Given the description of an element on the screen output the (x, y) to click on. 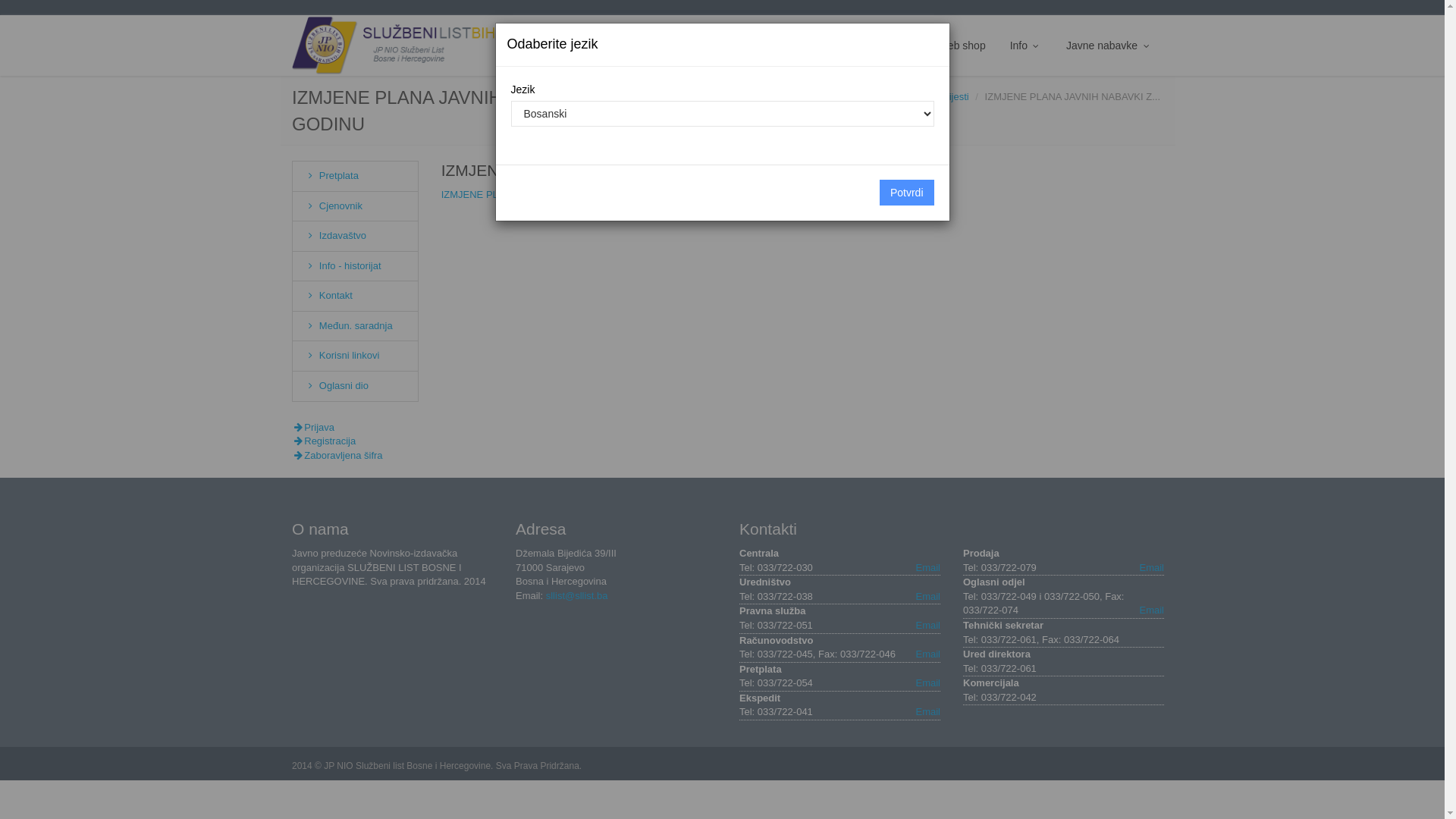
sllist@sllist.ba Element type: text (577, 595)
Email Element type: text (1151, 610)
Jezik Element type: text (577, 44)
Info Element type: text (1025, 44)
Web shop Element type: text (961, 44)
Potvrdi Element type: text (906, 192)
Info - historijat Element type: text (342, 265)
Email Element type: text (927, 712)
Email Element type: text (927, 625)
IZMJENE PLANA JAVNIH NABAVKI ZA 2023. GODINU Element type: text (637, 169)
Sve vijesti Element type: text (946, 96)
Korisni linkovi Element type: text (341, 354)
Pretplata Element type: text (331, 175)
Email Element type: text (927, 654)
Email Element type: text (927, 683)
Kontakt Element type: text (328, 295)
Javne nabavke Element type: text (1109, 44)
Prijava Element type: text (312, 427)
Oglasni dio Element type: text (336, 385)
Email Element type: text (927, 568)
Email Element type: text (927, 596)
Registracija Element type: text (323, 440)
Vijesti Element type: text (899, 44)
Email Element type: text (1151, 568)
Pretraga Element type: text (840, 44)
IZMJENE PLANA JAVNIH NABAVKI ZA 2023. GODINU Element type: text (562, 194)
Cjenovnik Element type: text (333, 205)
